Given the description of an element on the screen output the (x, y) to click on. 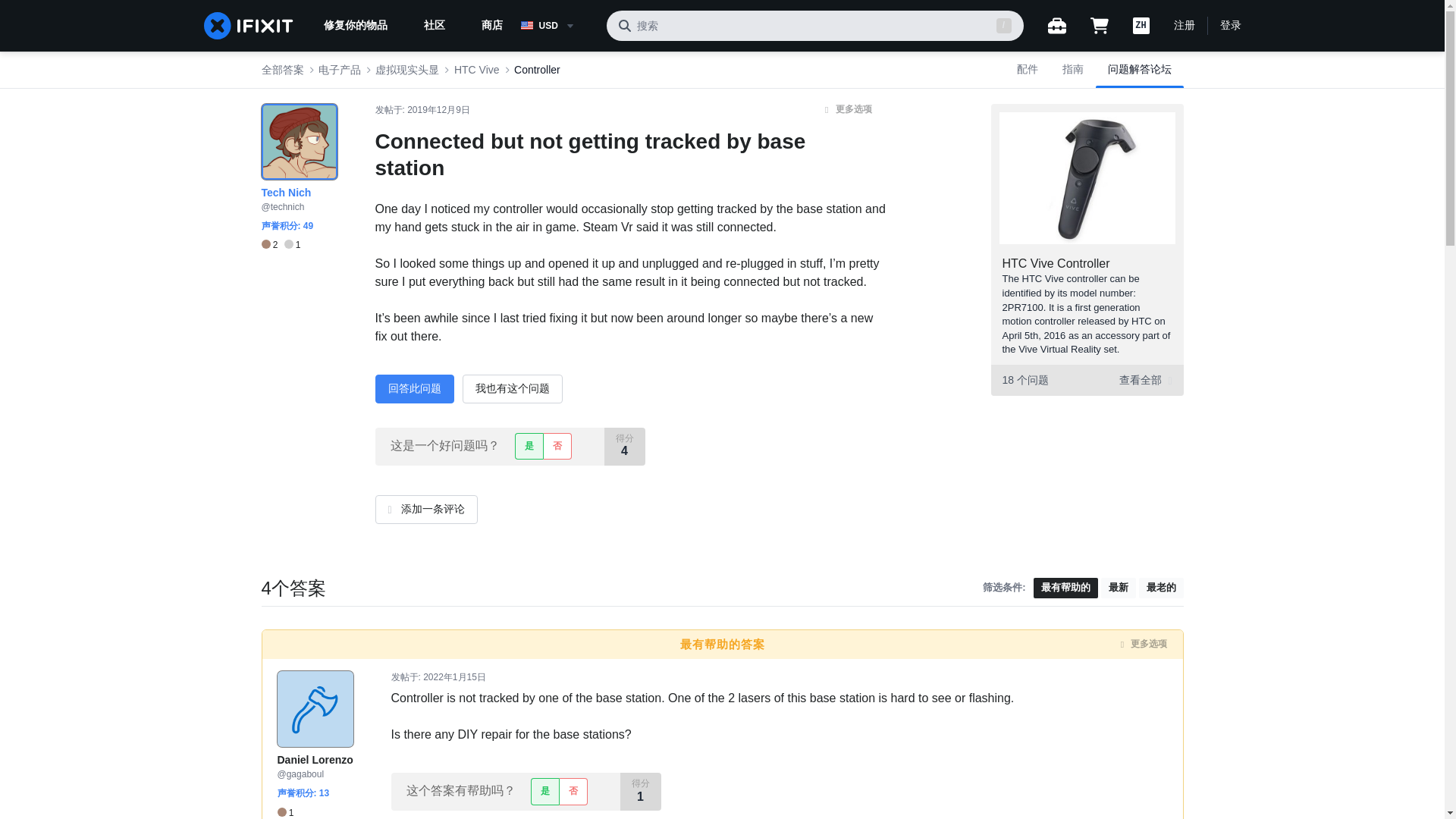
2 1 (279, 245)
Controller (536, 69)
Sat, 15 Jan 2022 17:27:21 -0700 (454, 676)
Mon, 09 Dec 2019 13:51:48 -0700 (438, 109)
HTC Vive (476, 69)
USD (556, 25)
HTC Vive Controller (1056, 263)
